Given the description of an element on the screen output the (x, y) to click on. 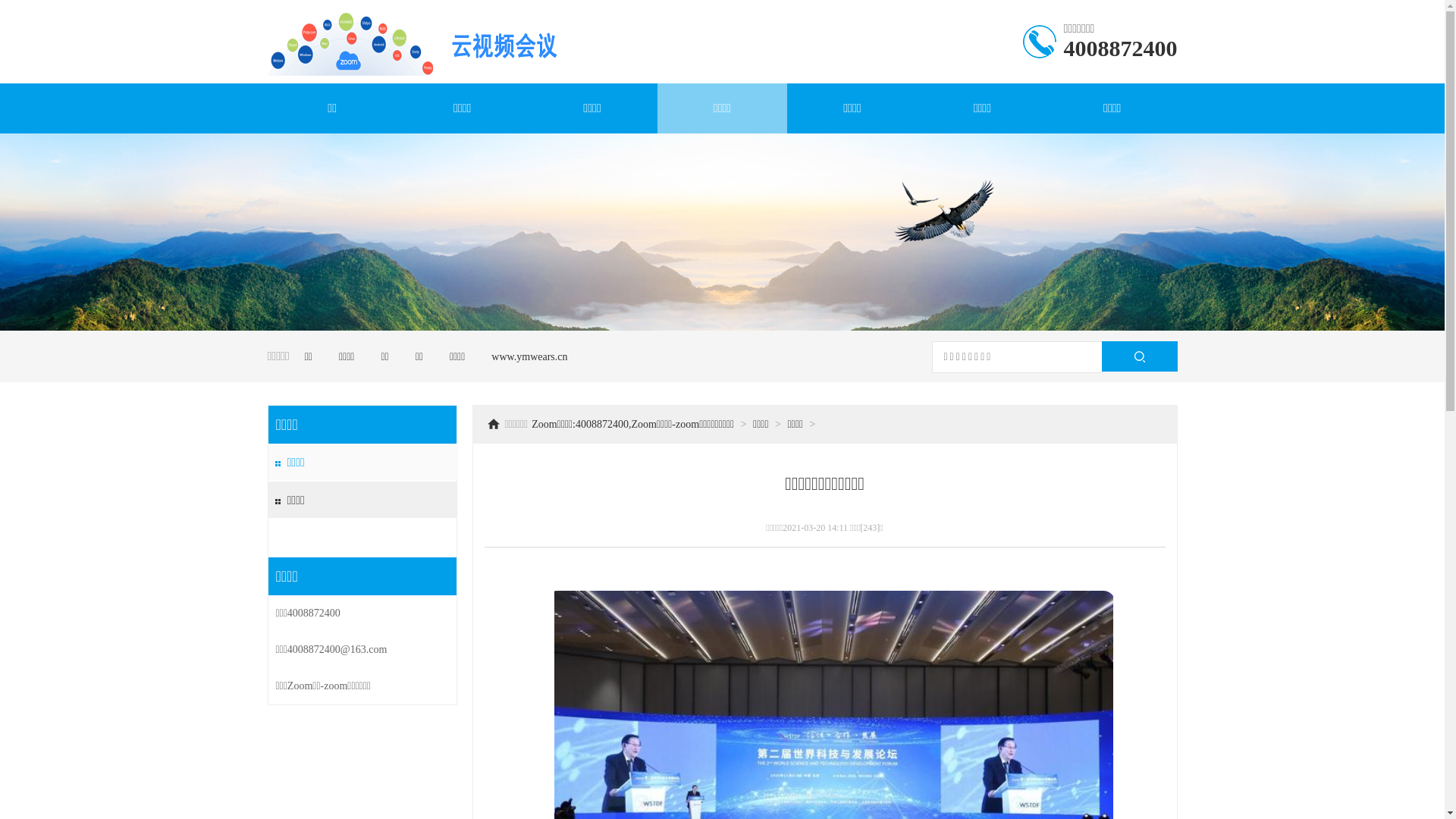
www.ymwears.cn Element type: text (529, 356)
  Element type: text (1138, 356)
